Given the description of an element on the screen output the (x, y) to click on. 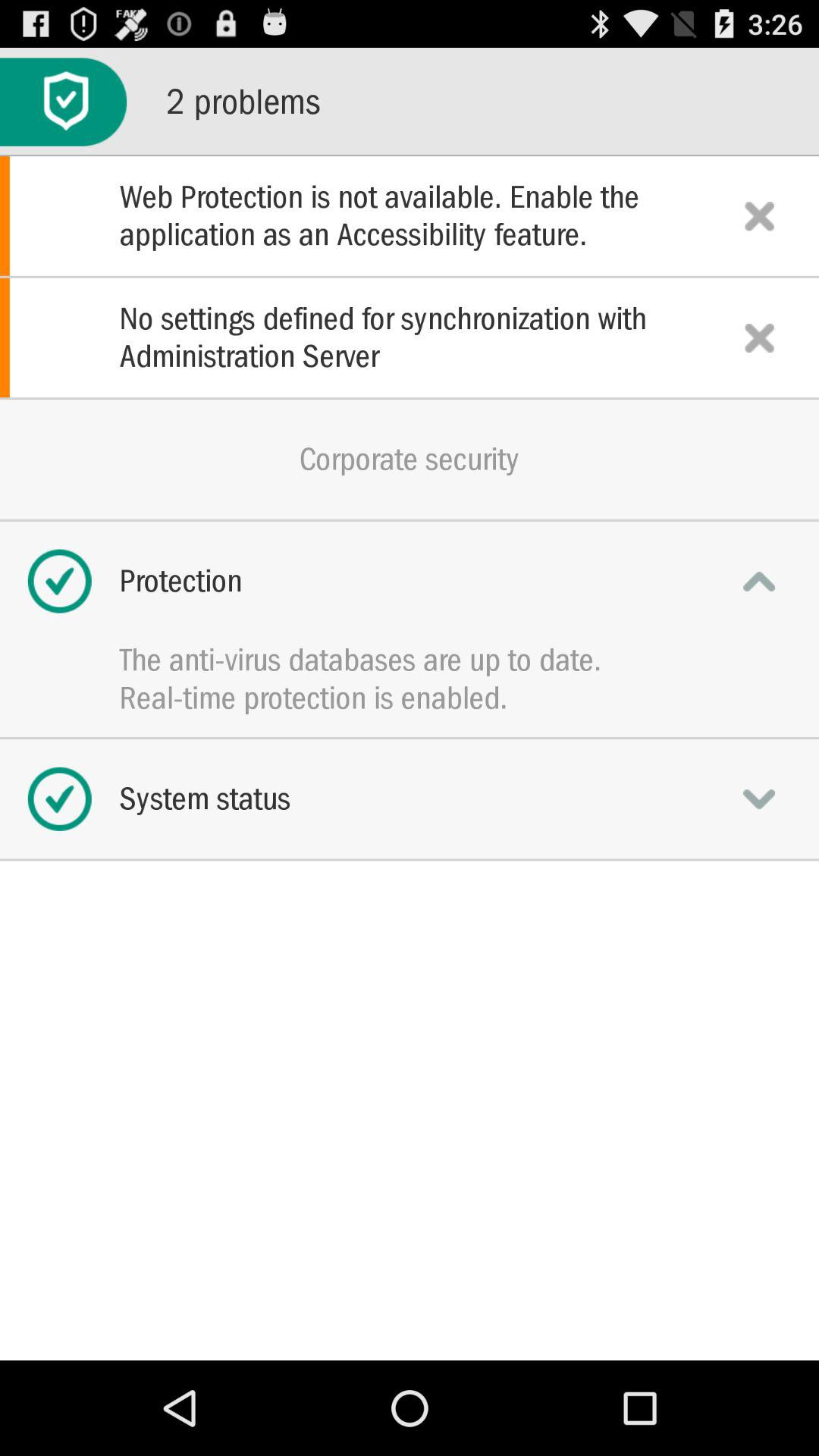
choose the corporate security (409, 459)
